Given the description of an element on the screen output the (x, y) to click on. 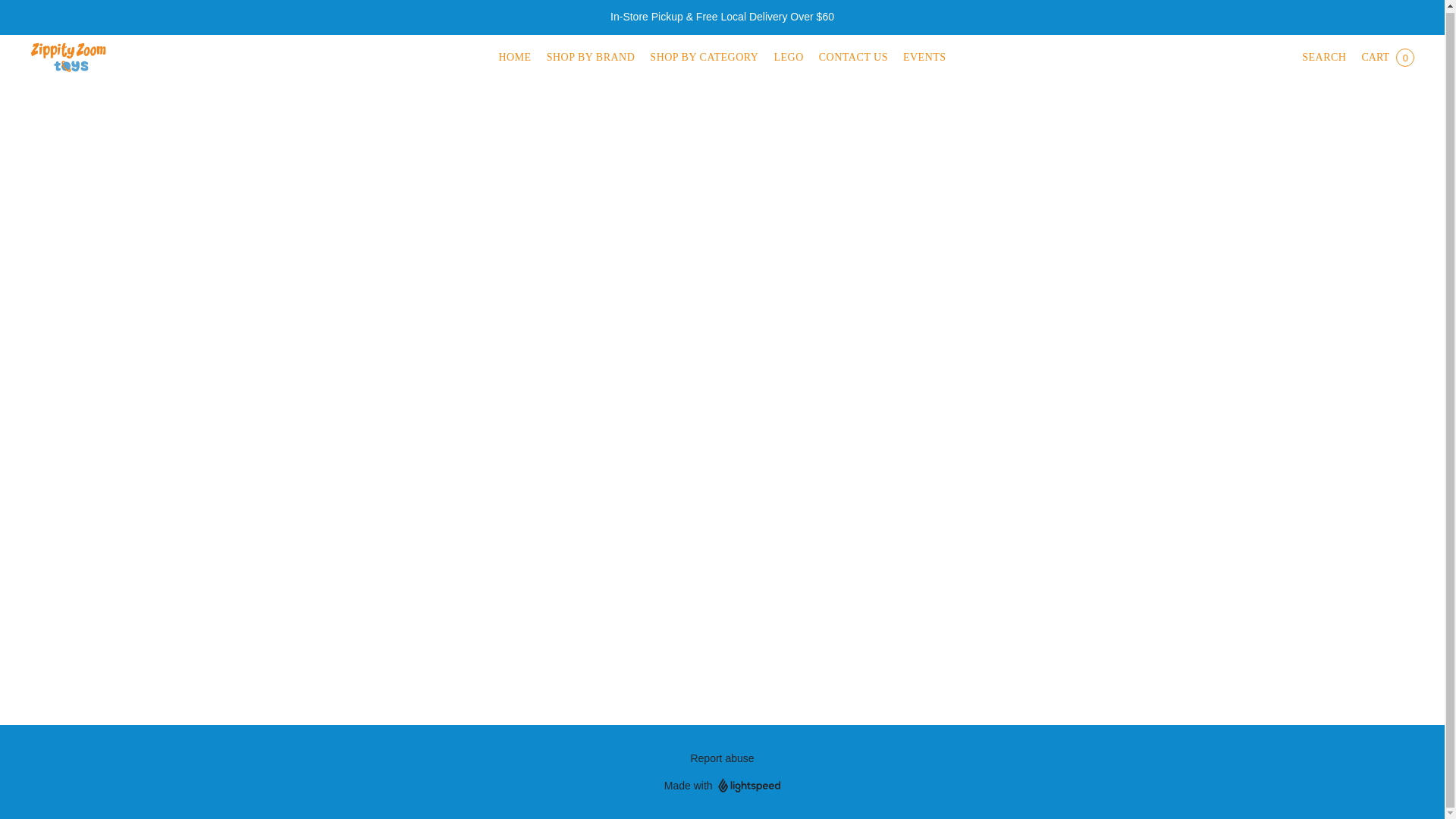
LEGO (787, 57)
EVENTS (920, 57)
Report abuse (722, 758)
Search the website (1323, 57)
CONTACT US (852, 57)
HOME (517, 57)
CART (1387, 57)
SEARCH (1323, 57)
SHOP BY BRAND (590, 57)
Go to your shopping cart (1387, 57)
